Given the description of an element on the screen output the (x, y) to click on. 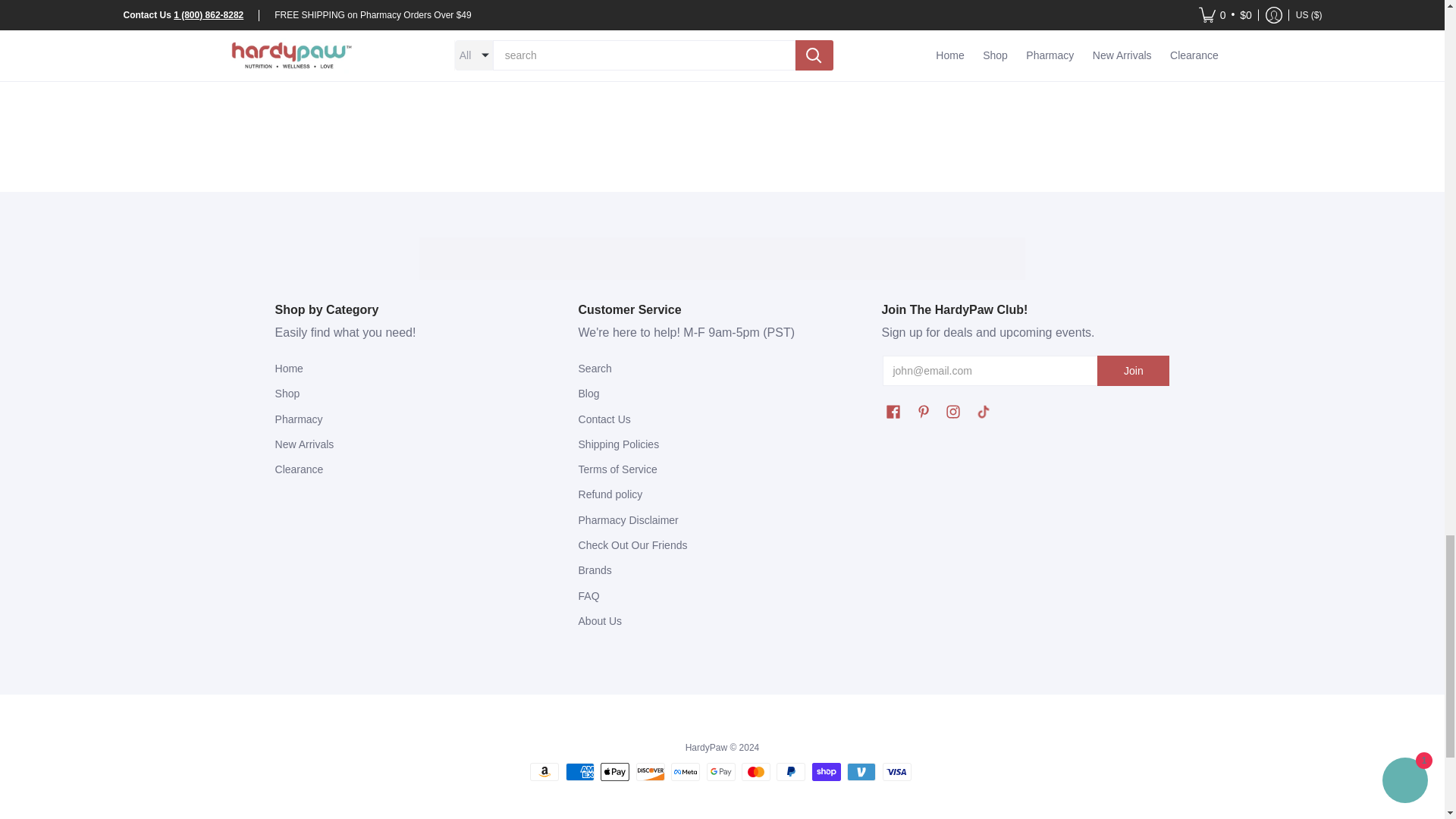
Apple Pay (613, 771)
Meta Pay (685, 771)
American Express (580, 771)
Discover (650, 771)
Amazon (544, 771)
Google Pay (720, 771)
